Given the description of an element on the screen output the (x, y) to click on. 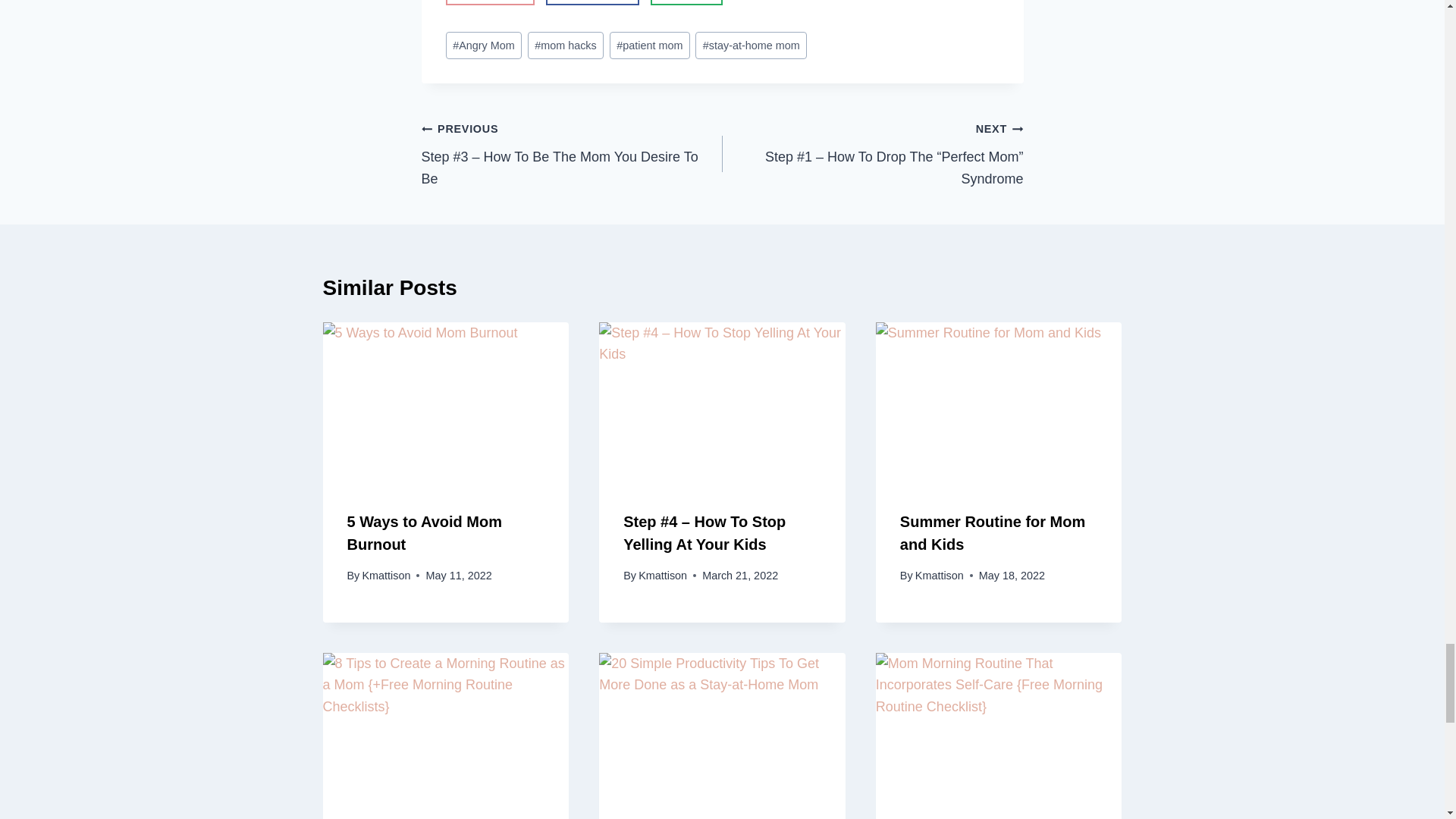
Save to Pinterest (490, 2)
stay-at-home mom (750, 45)
Pinterest (490, 2)
Angry Mom (483, 45)
patient mom (650, 45)
Email (686, 2)
Send over email (686, 2)
Facebook (592, 2)
mom hacks (565, 45)
Share on Facebook (592, 2)
